Given the description of an element on the screen output the (x, y) to click on. 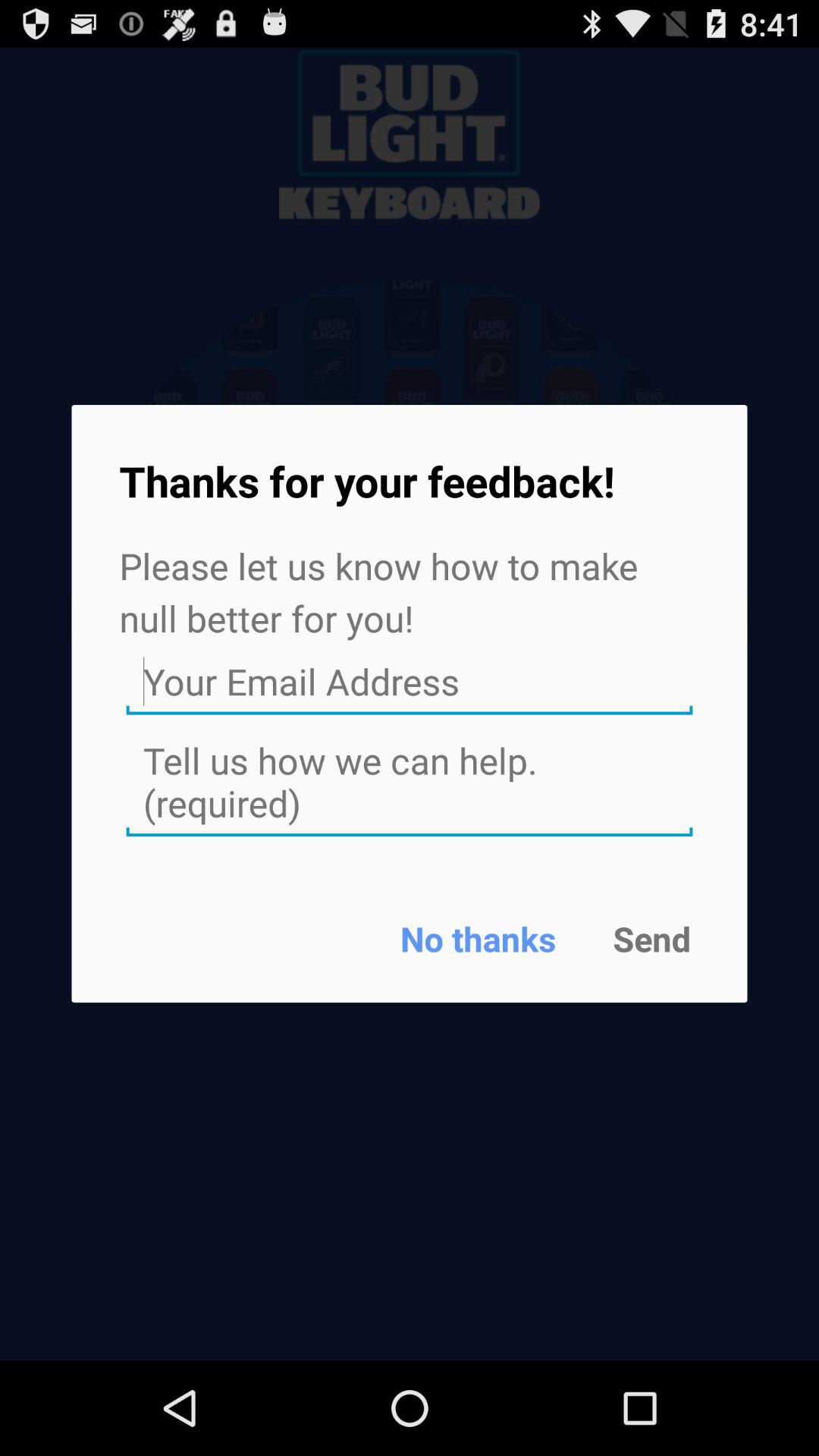
enter email address (409, 681)
